Given the description of an element on the screen output the (x, y) to click on. 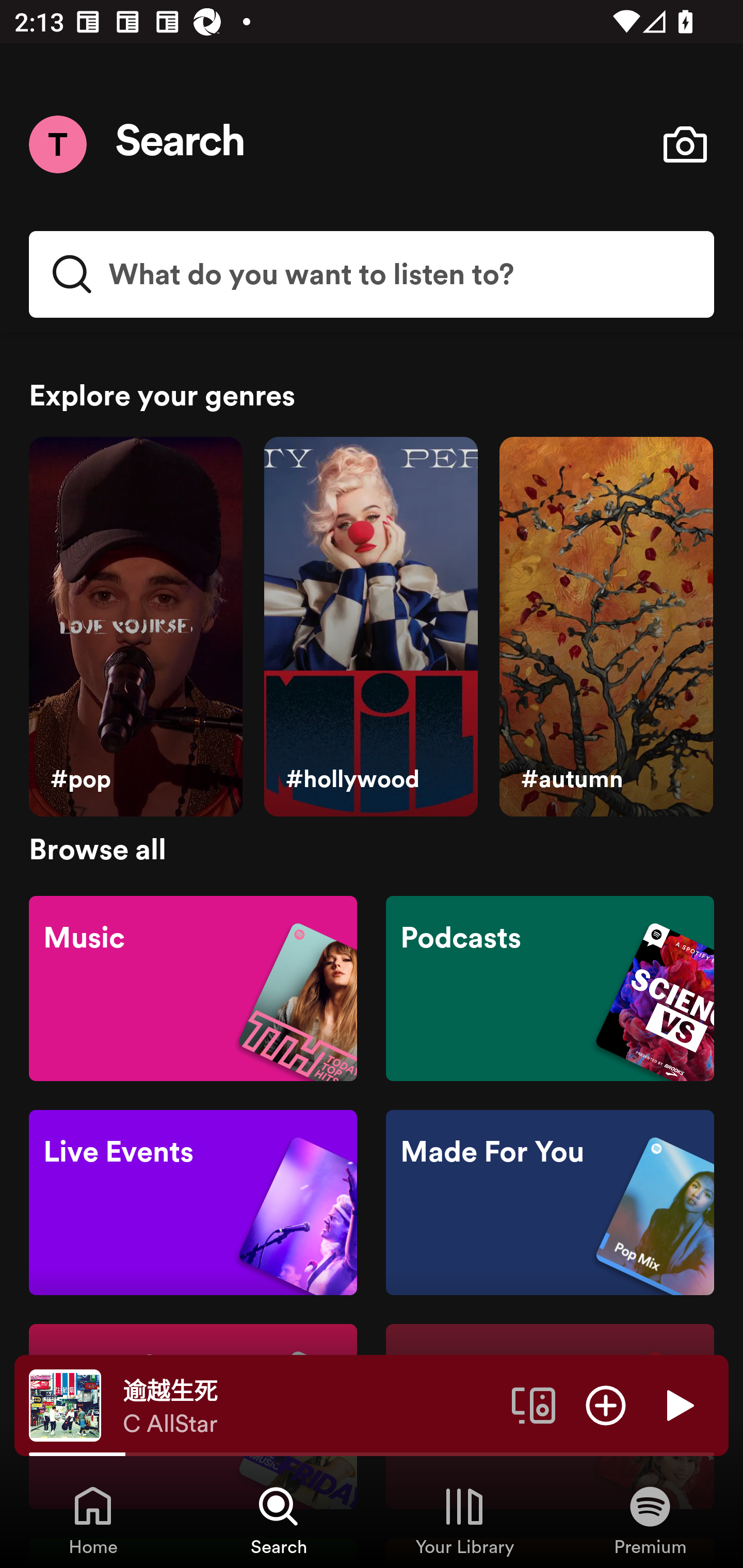
Menu (57, 144)
Open camera (685, 145)
Search (180, 144)
#pop (135, 626)
#hollywood (370, 626)
#autumn (606, 626)
Music (192, 987)
Podcasts (549, 987)
Live Events (192, 1202)
Made For You (549, 1202)
逾越生死 C AllStar (309, 1405)
The cover art of the currently playing track (64, 1404)
Connect to a device. Opens the devices menu (533, 1404)
Add item (605, 1404)
Play (677, 1404)
Home, Tab 1 of 4 Home Home (92, 1519)
Search, Tab 2 of 4 Search Search (278, 1519)
Your Library, Tab 3 of 4 Your Library Your Library (464, 1519)
Premium, Tab 4 of 4 Premium Premium (650, 1519)
